Given the description of an element on the screen output the (x, y) to click on. 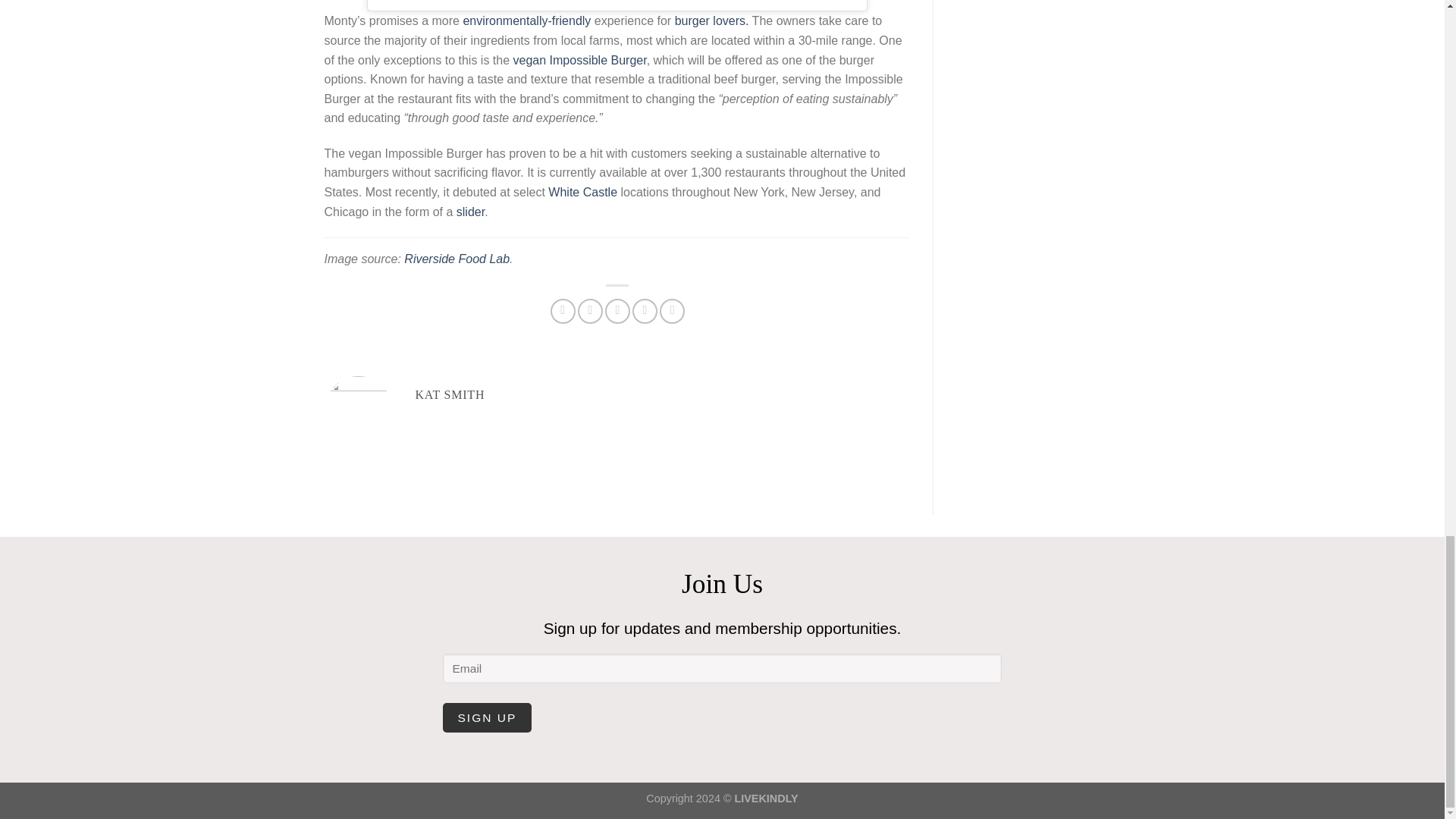
Share on Tumblr (671, 310)
Share on Twitter (590, 310)
Pin on Pinterest (644, 310)
environmentally-friendly (527, 20)
White Castle (582, 192)
Share on Facebook (562, 310)
vegan Impossible Burger (579, 60)
Riverside Food Lab (456, 258)
burger lovers. (712, 20)
SIGN UP (486, 717)
Email to a Friend (617, 310)
slider (470, 211)
